Given the description of an element on the screen output the (x, y) to click on. 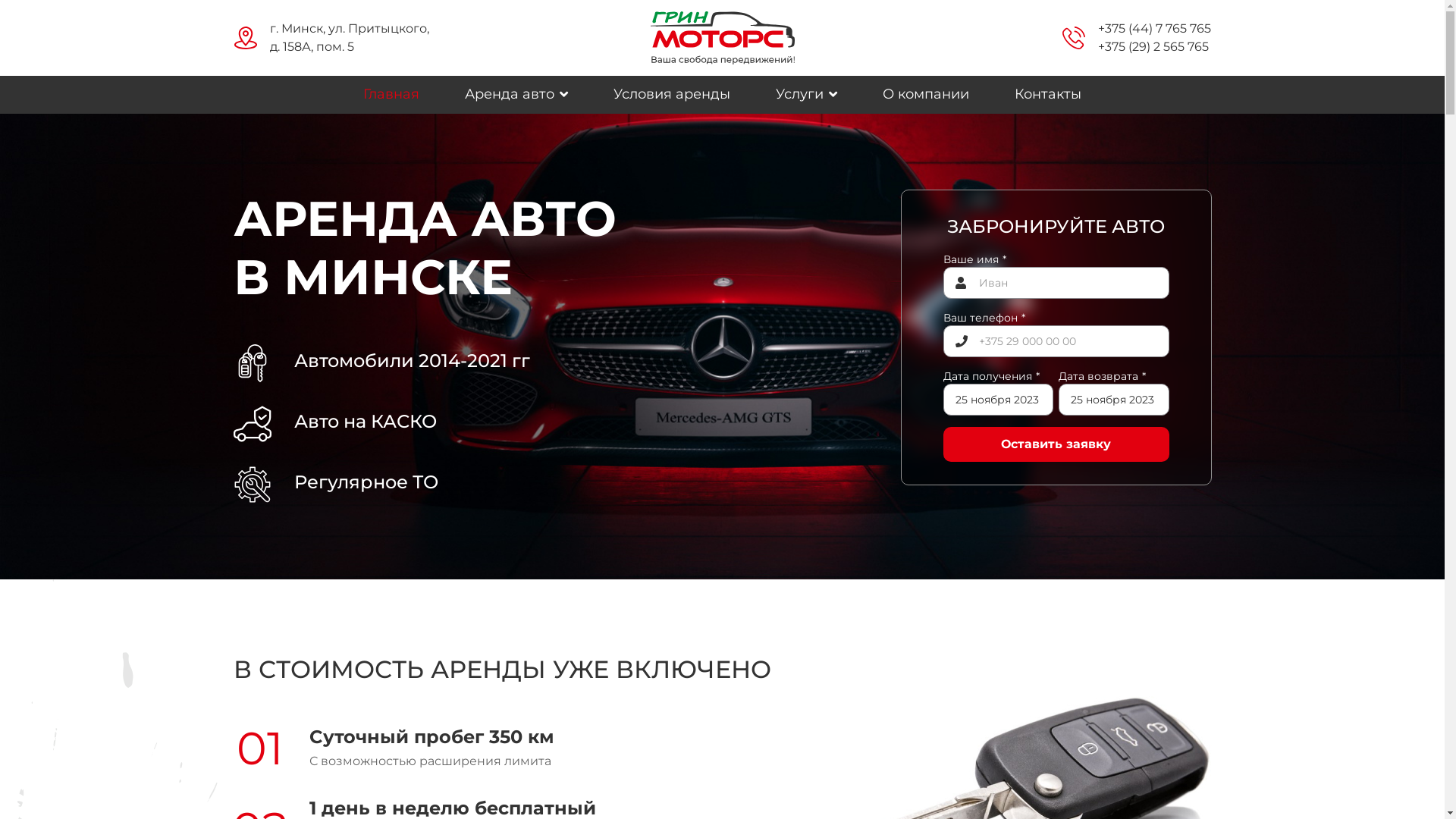
+375 (44) 7 765 765 Element type: text (1154, 28)
+375 (29) 2 565 765 Element type: text (1153, 46)
